Given the description of an element on the screen output the (x, y) to click on. 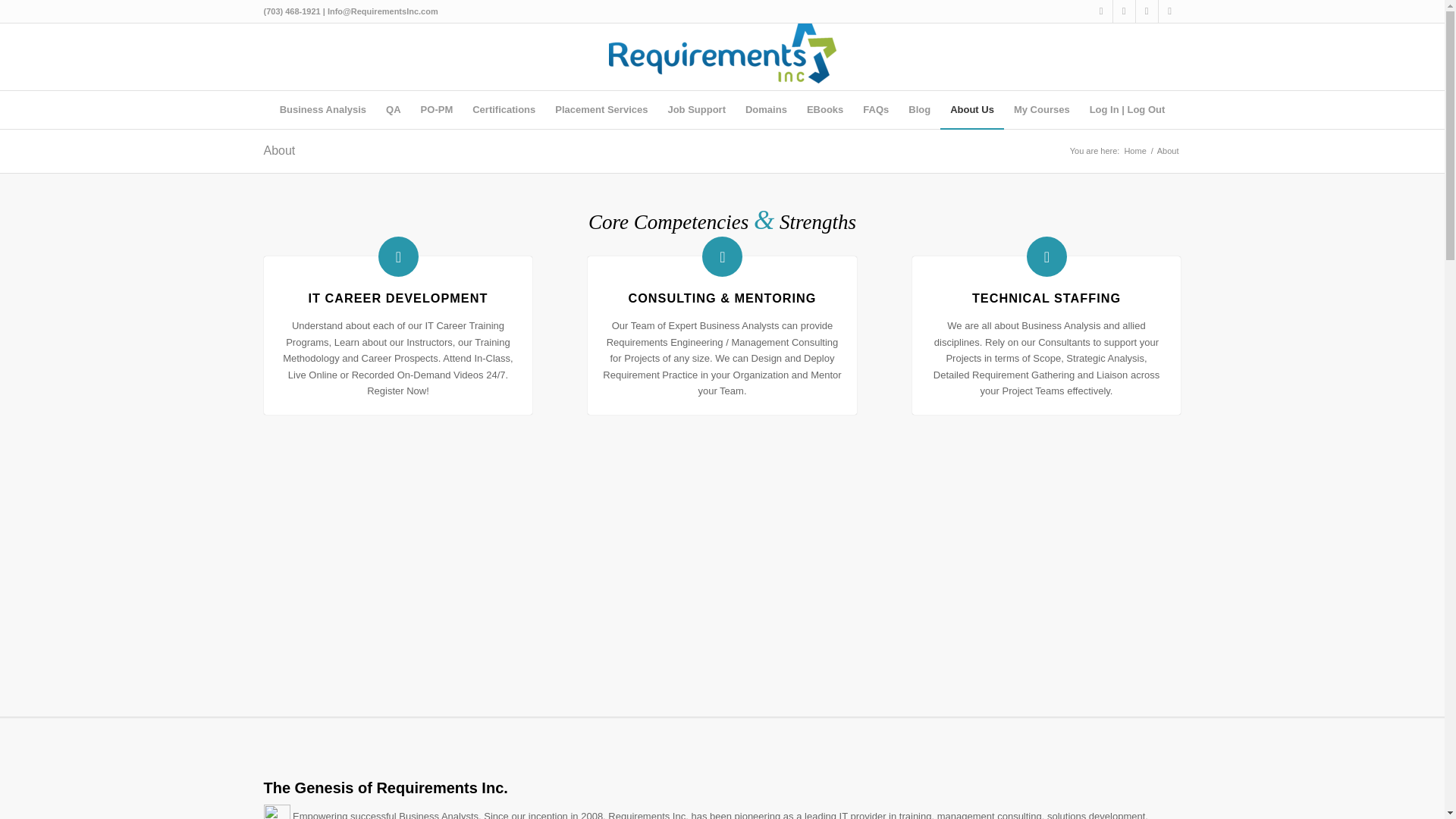
Twitter (1124, 11)
Permanent Link: About (279, 150)
IT Career Development (397, 297)
Mail (1169, 11)
Rss (1146, 11)
Job Support (696, 109)
EBooks (824, 109)
QA (392, 109)
Placement Services (601, 109)
Domains (765, 109)
